Given the description of an element on the screen output the (x, y) to click on. 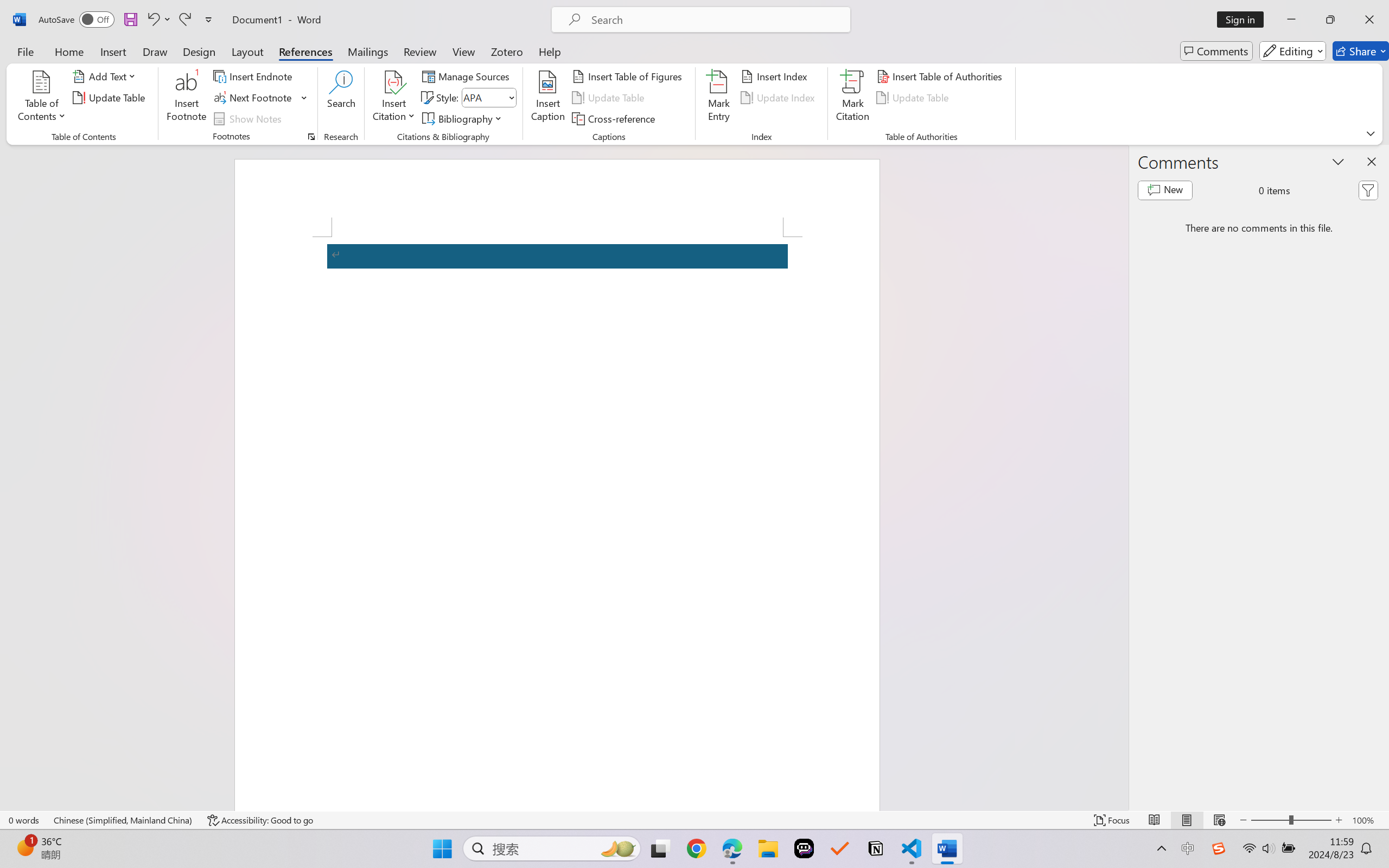
Language Chinese (Simplified, Mainland China) (123, 819)
Insert Caption... (547, 97)
Cross-reference... (615, 118)
Style (483, 96)
Insert Citation (393, 97)
Insert Table of Authorities... (941, 75)
